Given the description of an element on the screen output the (x, y) to click on. 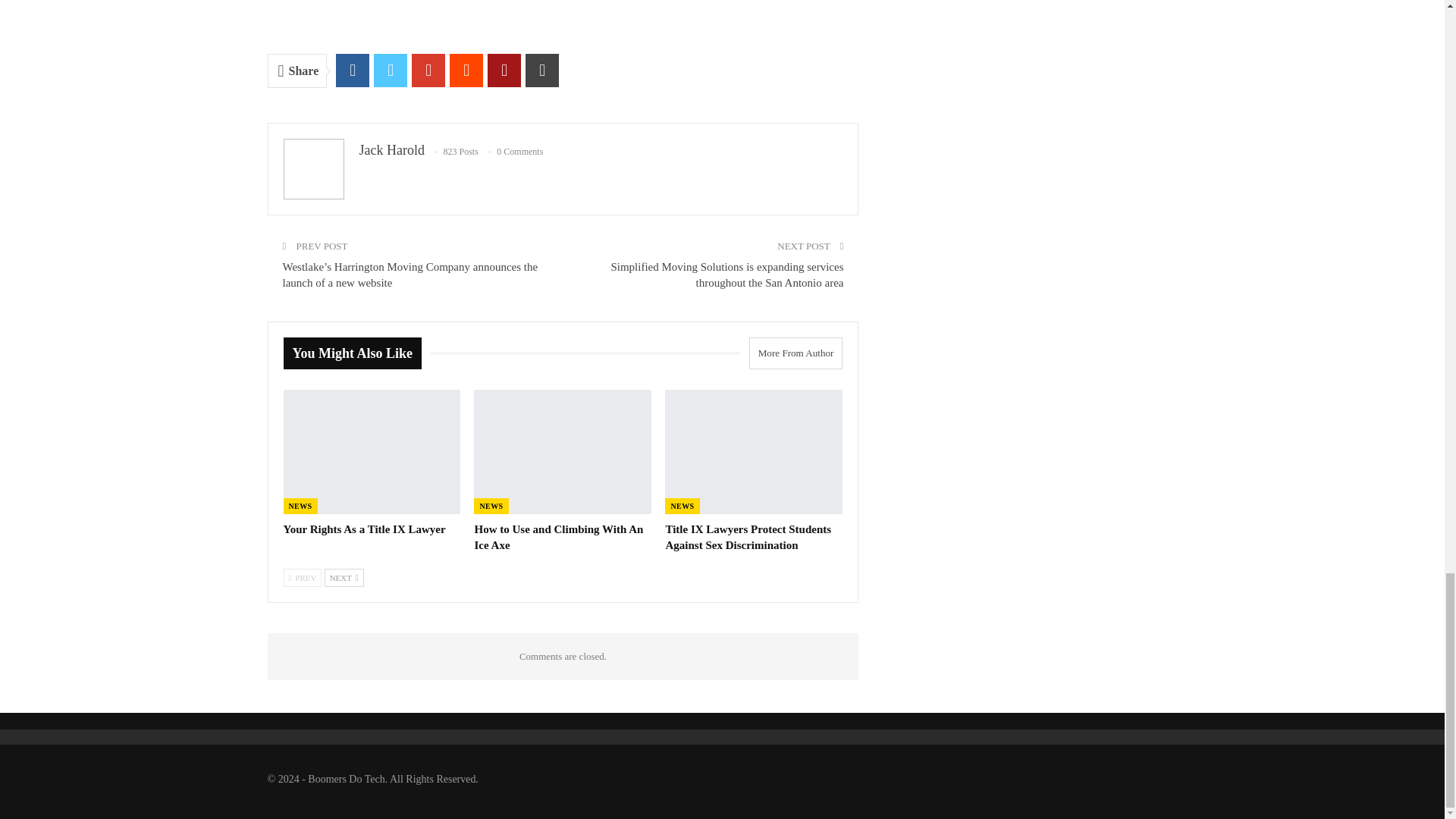
Your Rights As a Title IX Lawyer (364, 529)
Your Rights As a Title IX Lawyer (372, 451)
Previous (302, 577)
Title IX Lawyers Protect Students Against Sex Discrimination (754, 451)
Title IX Lawyers Protect Students Against Sex Discrimination (748, 537)
Next (344, 577)
How to Use and Climbing With An Ice Axe (558, 537)
How to Use and Climbing With An Ice Axe (562, 451)
